Given the description of an element on the screen output the (x, y) to click on. 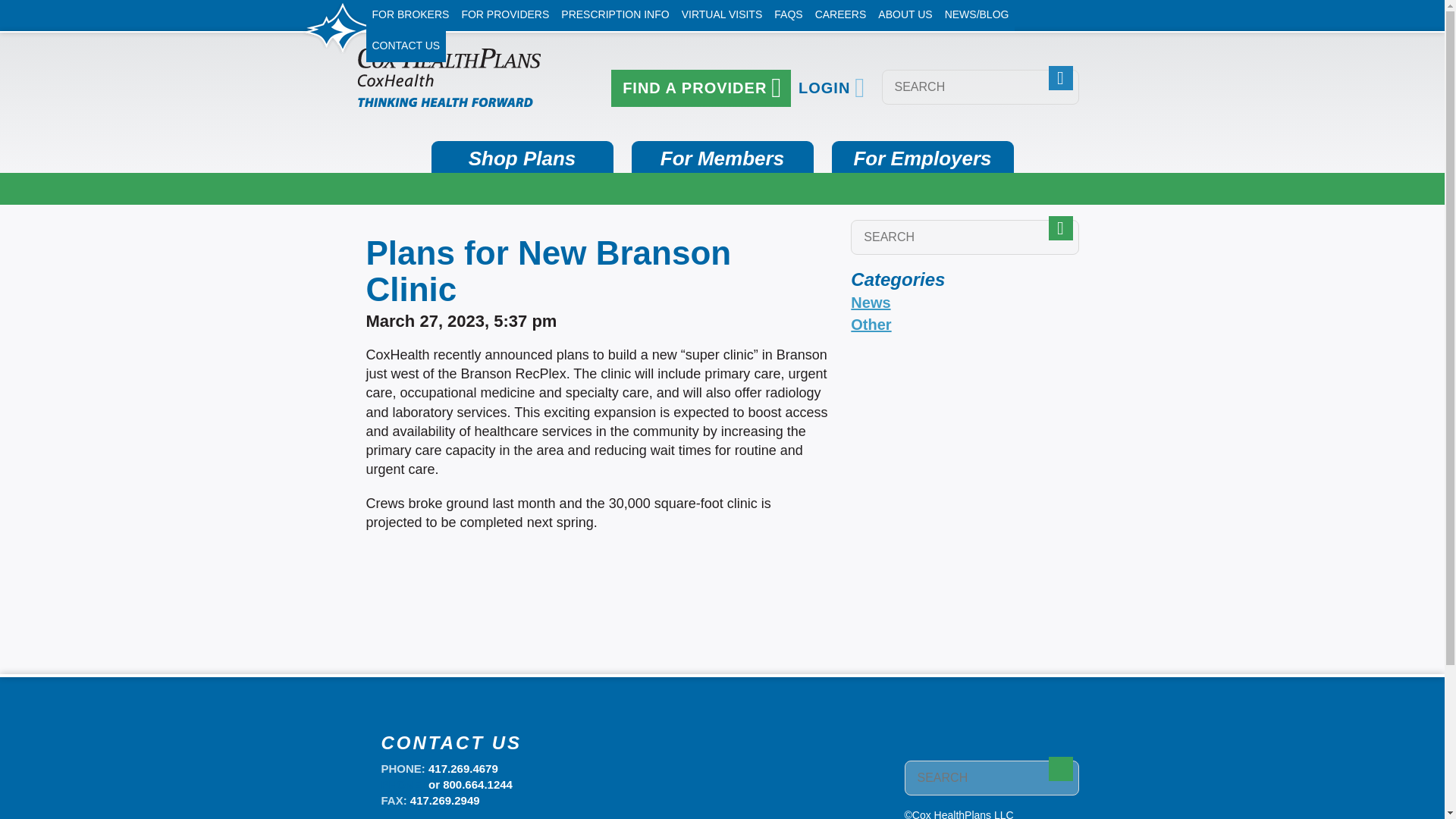
For Members (721, 156)
LOGIN (831, 88)
FOR PROVIDERS (504, 15)
FOR BROKERS (409, 15)
For Employers (922, 156)
FIND A PROVIDER (700, 88)
PRESCRIPTION INFO (614, 15)
Shop Plans (521, 156)
